Given the description of an element on the screen output the (x, y) to click on. 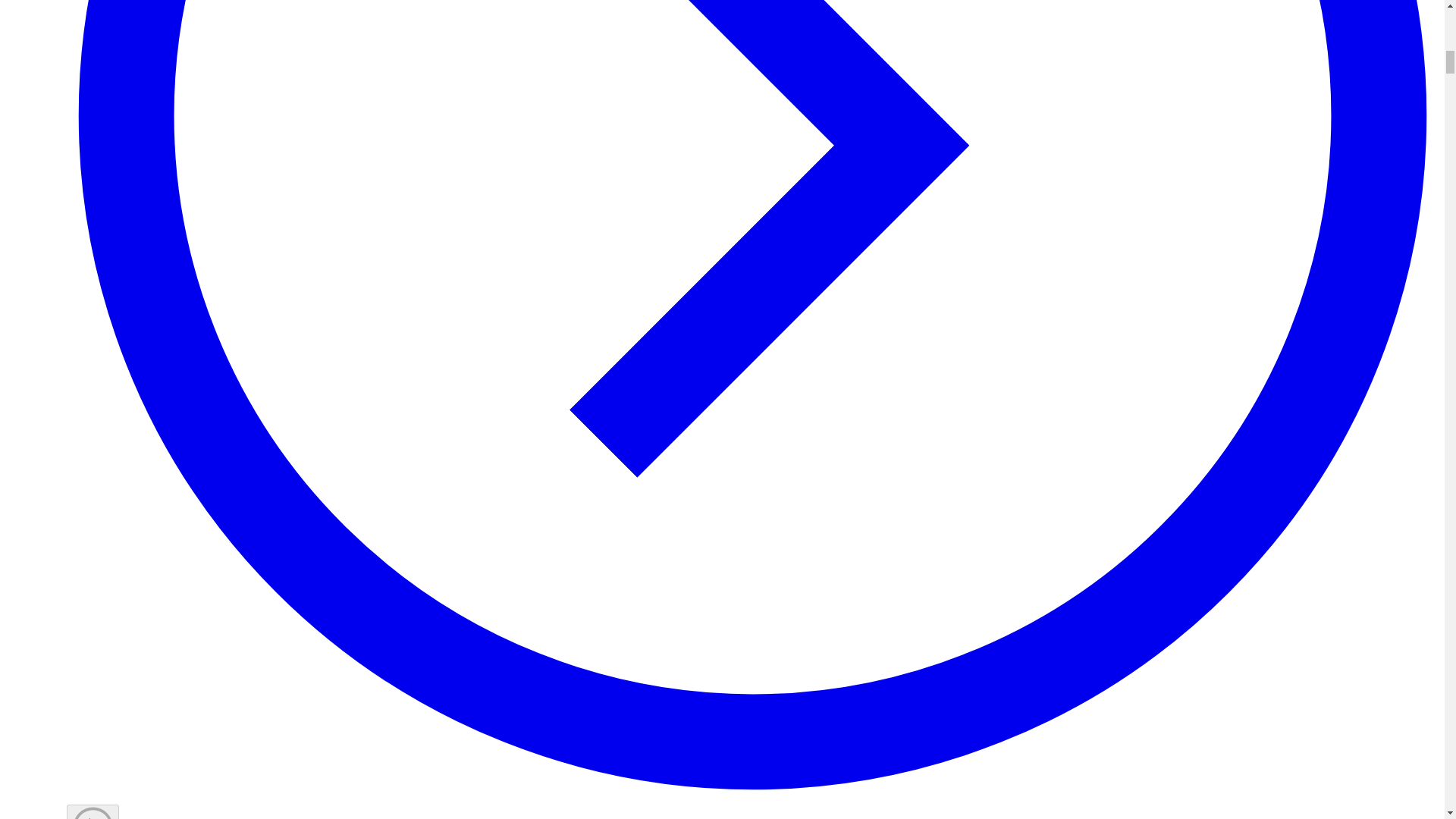
Go back (92, 811)
